Given the description of an element on the screen output the (x, y) to click on. 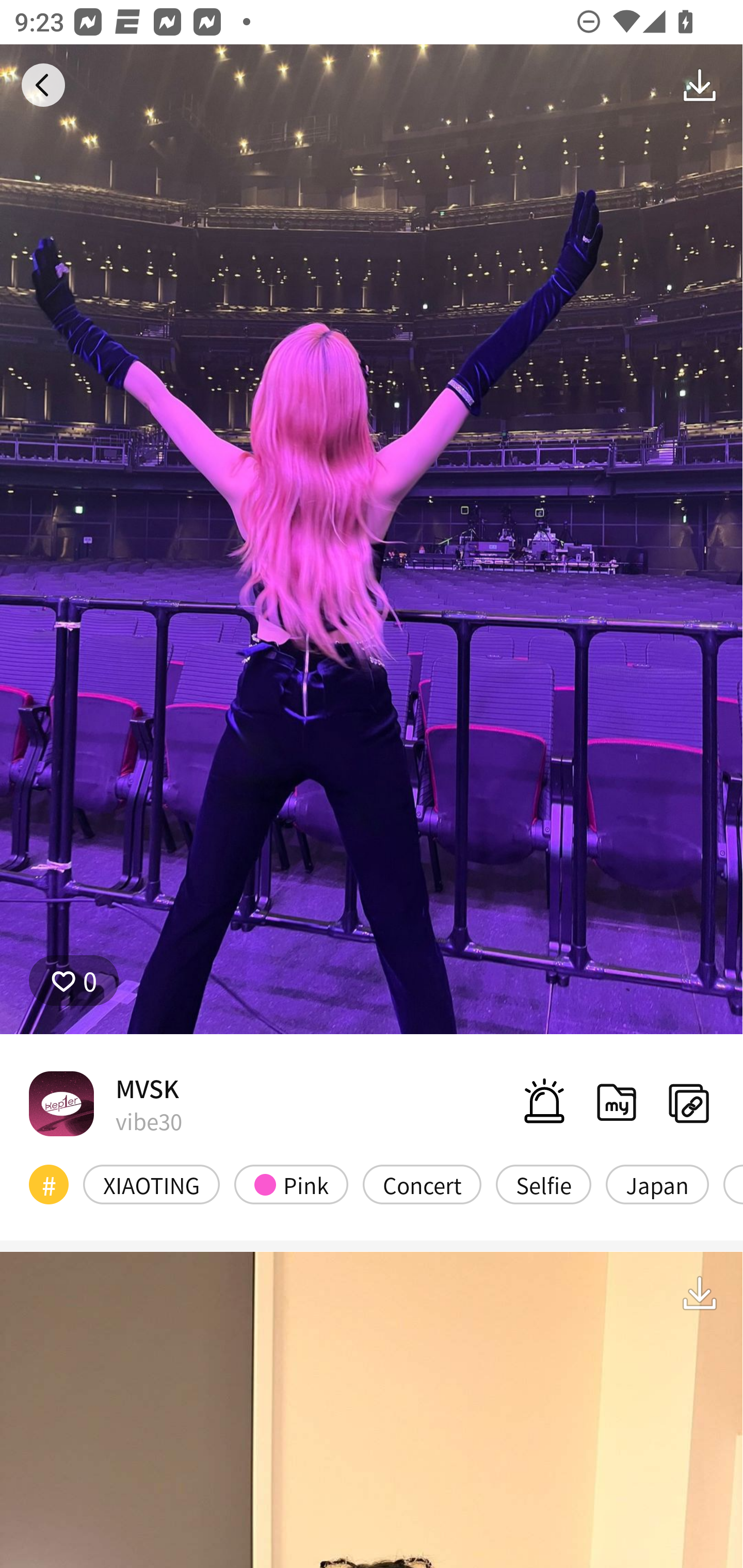
0 (73, 980)
MVSK vibe30 (105, 1102)
XIAOTING (151, 1184)
Pink (291, 1184)
Concert (421, 1184)
Selfie (543, 1184)
Japan (656, 1184)
